Given the description of an element on the screen output the (x, y) to click on. 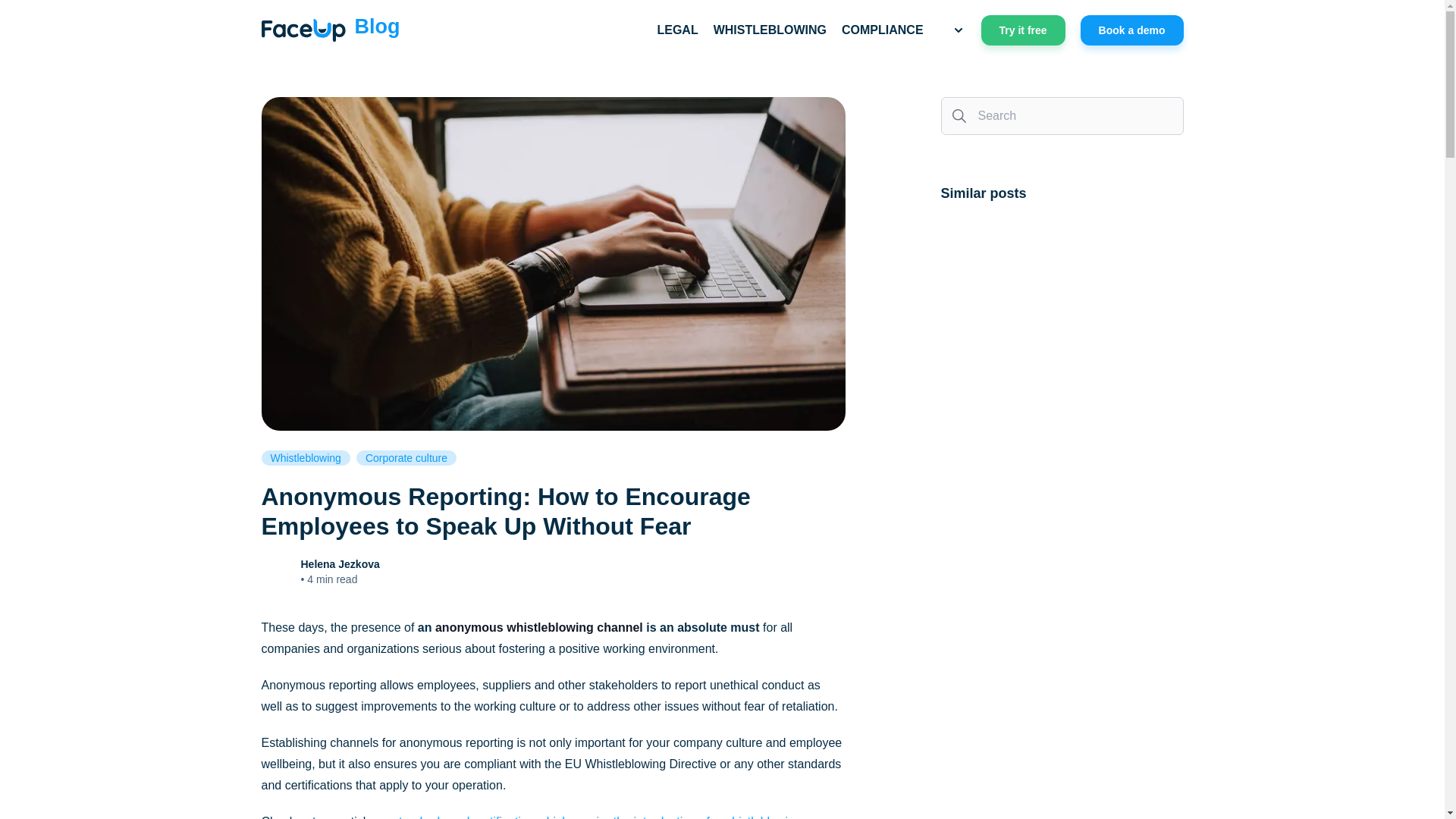
COMPLIANCE (882, 29)
LEGAL (676, 29)
Whistleblowing (304, 458)
anonymous whistleblowing channel (539, 626)
WHISTLEBLOWING (770, 29)
Try it free (1023, 30)
Corporate culture (406, 458)
Book a demo (1131, 30)
Blog (329, 29)
